Given the description of an element on the screen output the (x, y) to click on. 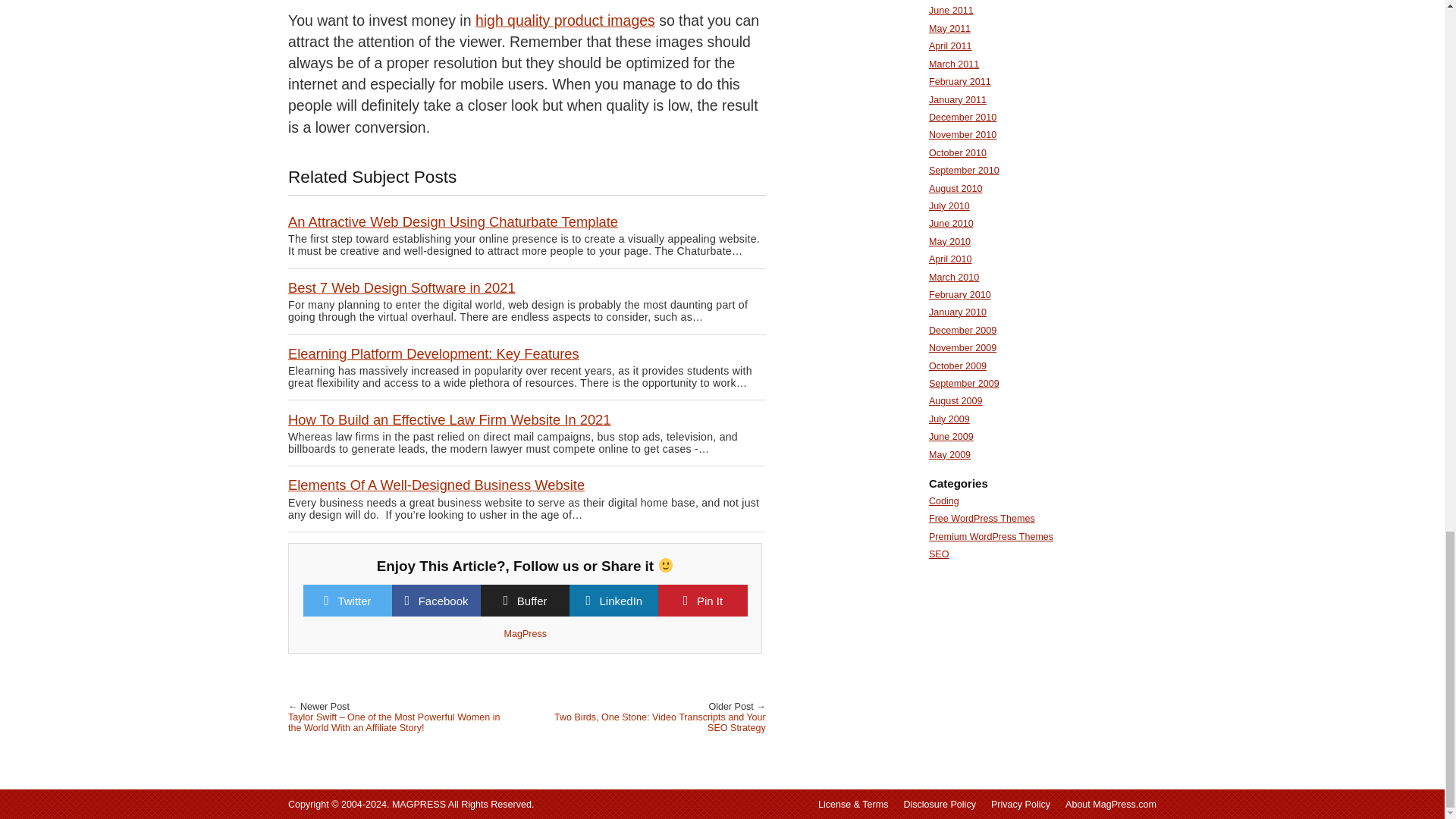
Twitter (354, 600)
Elearning Platform Development: Key Features (433, 353)
How To Build an Effective Law Firm Website In 2021 (449, 419)
An Attractive Web Design Using Chaturbate Template (452, 221)
Best 7 Web Design Software in 2021 (401, 287)
Best 7 Web Design Software in 2021 (401, 287)
Facebook (443, 600)
An Attractive Web Design Using Chaturbate Template (452, 221)
Elements Of A Well-Designed Business Website (436, 484)
high quality product images (565, 20)
